Given the description of an element on the screen output the (x, y) to click on. 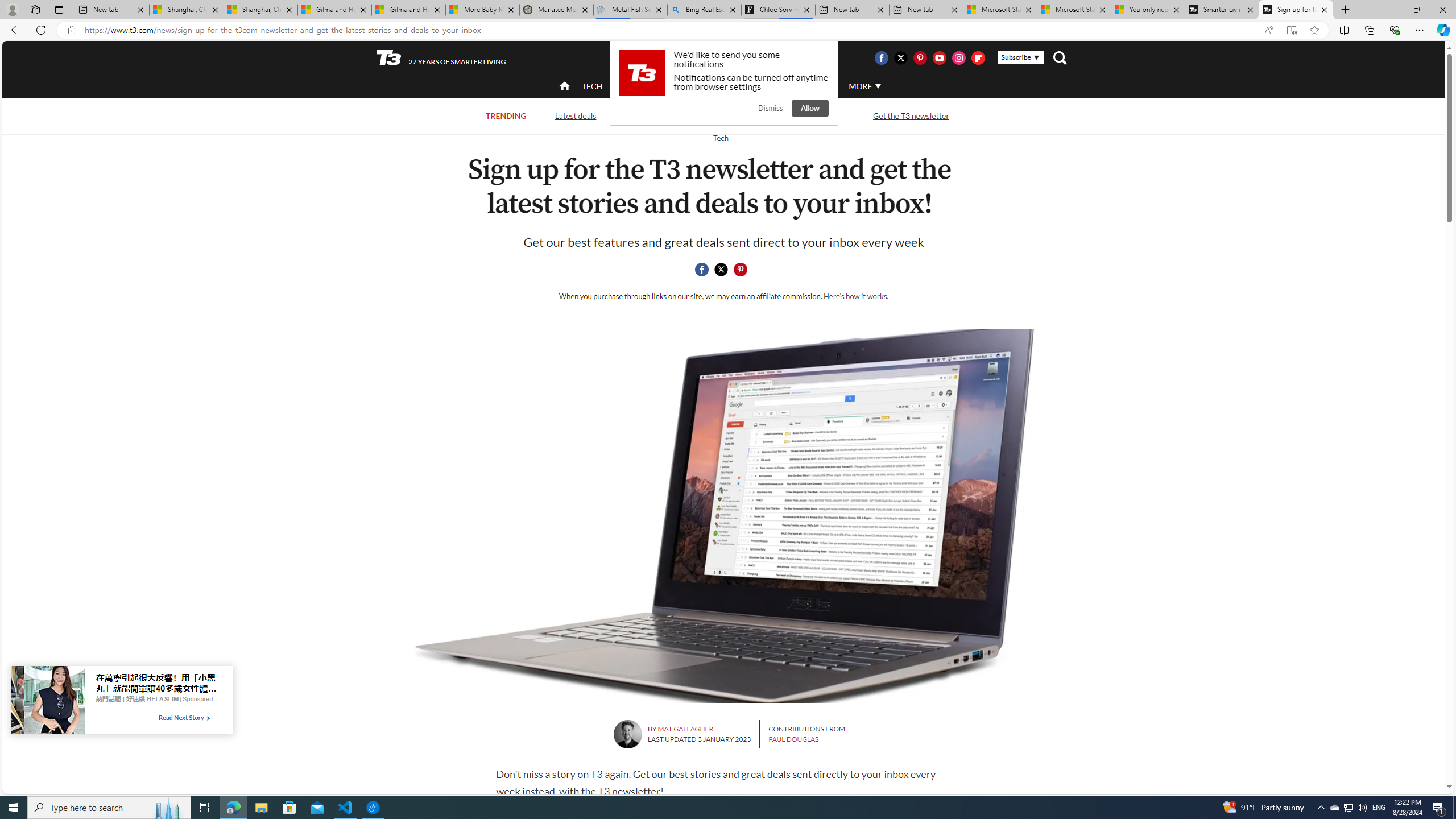
Visit us on Flipboard (978, 57)
Image for Taboola Advertising Unit (47, 702)
Class: svg-arrow-down (877, 86)
LUXURY (765, 86)
Back to Class 2024 (670, 115)
Class: icon-svg (739, 269)
flag of UK (752, 57)
Subscribe (1020, 56)
Latest deals (574, 115)
T3 newsletter (723, 515)
Chloe Sorvino (777, 9)
